Given the description of an element on the screen output the (x, y) to click on. 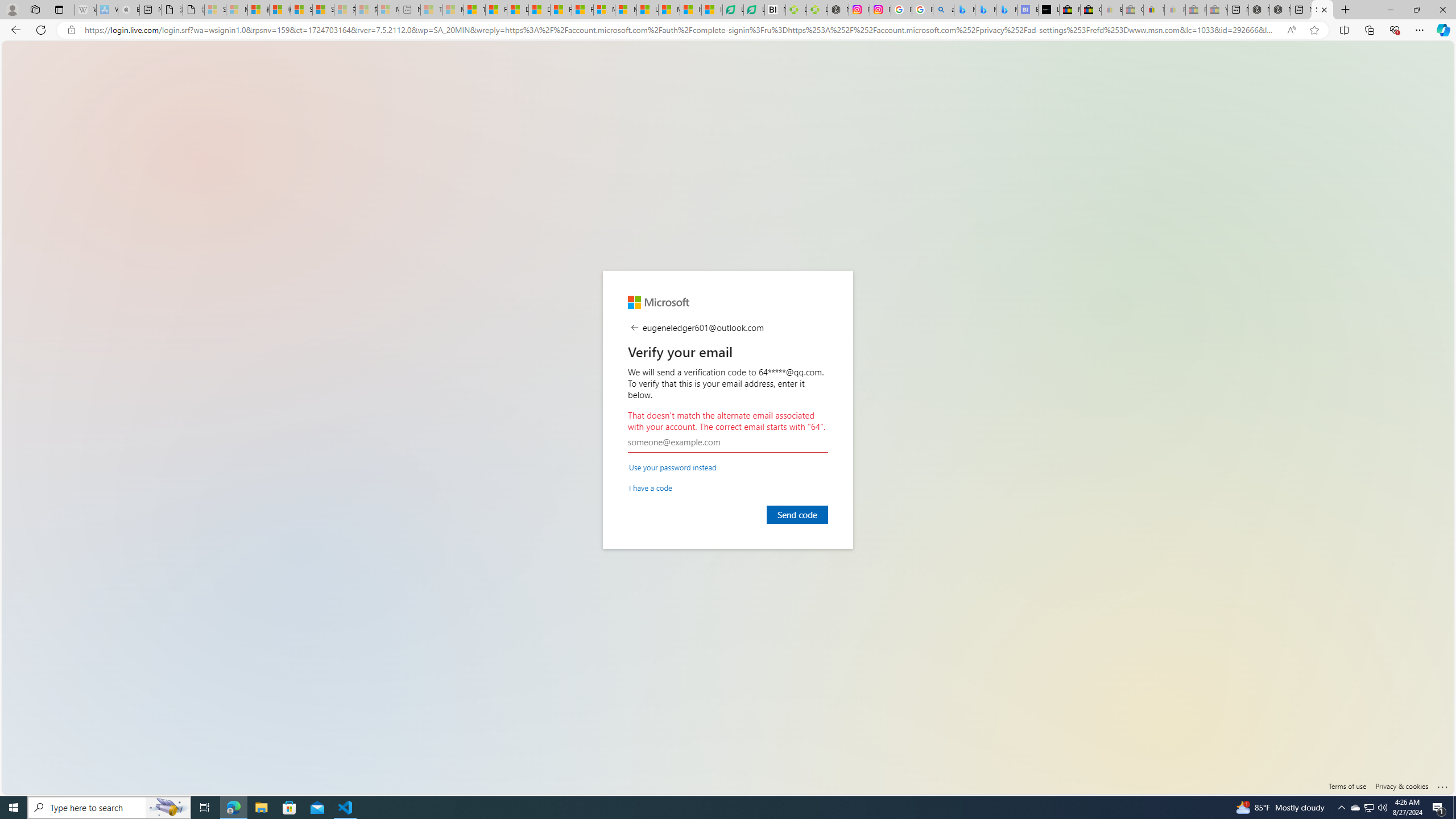
Foo BAR | Trusted Community Engagement and Contributions (582, 9)
Payments Terms of Use | eBay.com - Sleeping (1174, 9)
Send code (797, 514)
Click here for troubleshooting information (1442, 784)
Nvidia va a poner a prueba la paciencia de los inversores (775, 9)
Sign in to your Microsoft account - Sleeping (215, 9)
